Given the description of an element on the screen output the (x, y) to click on. 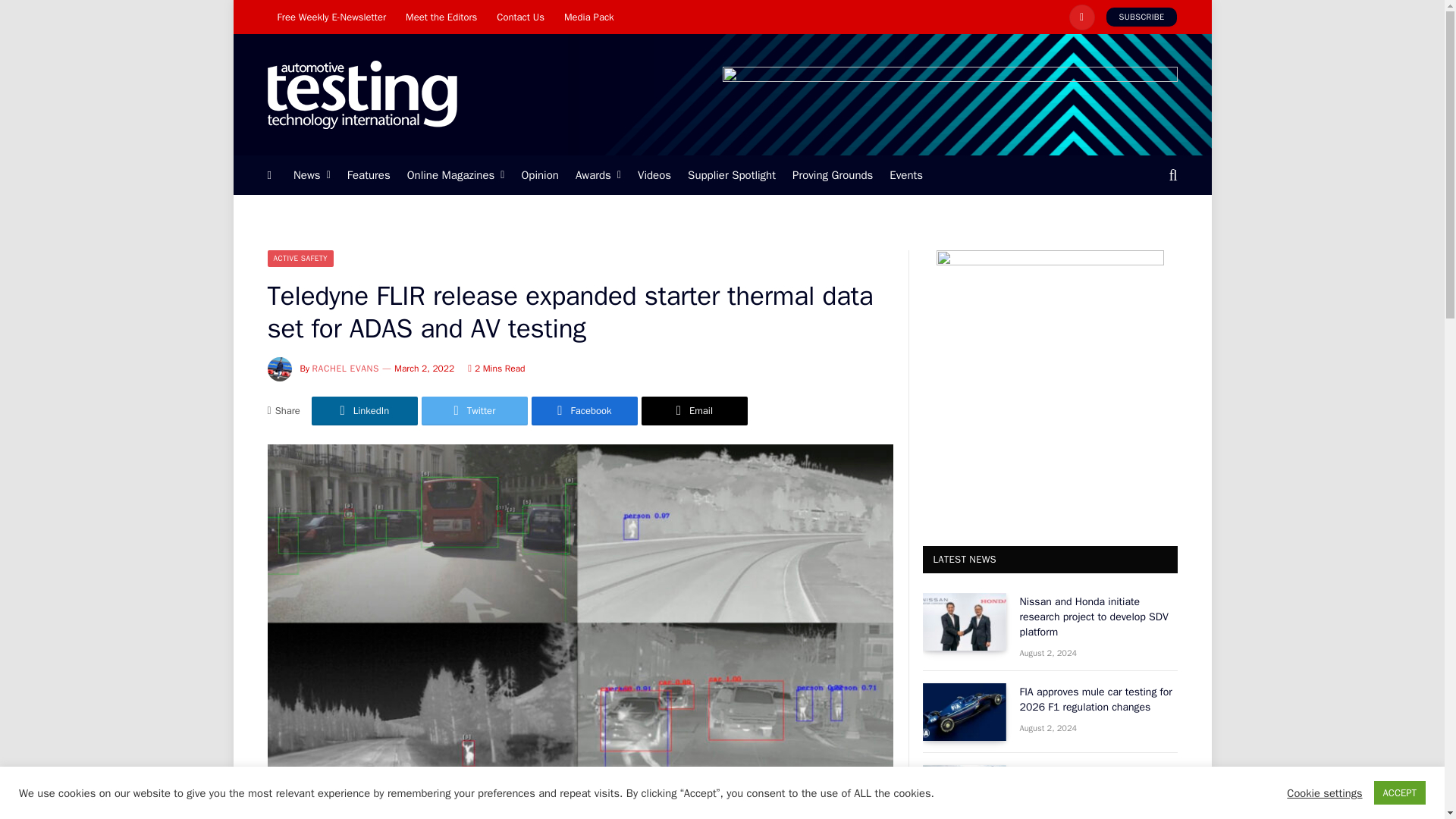
Share on LinkedIn (364, 410)
Share on Facebook (584, 410)
Posts by Rachel Evans (345, 368)
Automotive Testing Technology International (361, 94)
Share via Email (695, 410)
